Given the description of an element on the screen output the (x, y) to click on. 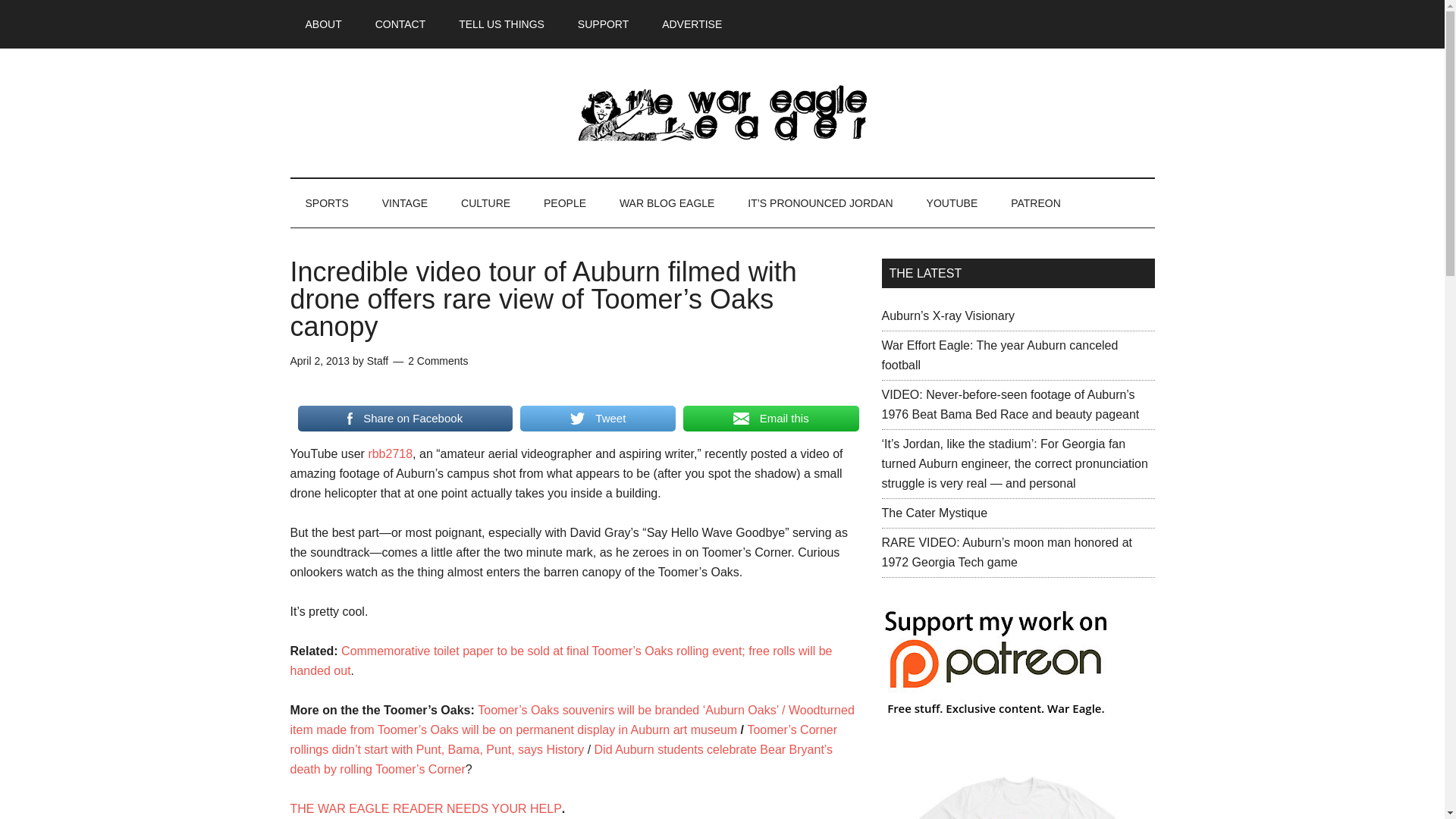
SUPPORT (602, 24)
ABOUT (322, 24)
ADVERTISE (691, 24)
Share on Facebook (404, 418)
Email this (770, 418)
TELL US THINGS (501, 24)
PEOPLE (564, 203)
CULTURE (485, 203)
PATREON (1035, 203)
